Given the description of an element on the screen output the (x, y) to click on. 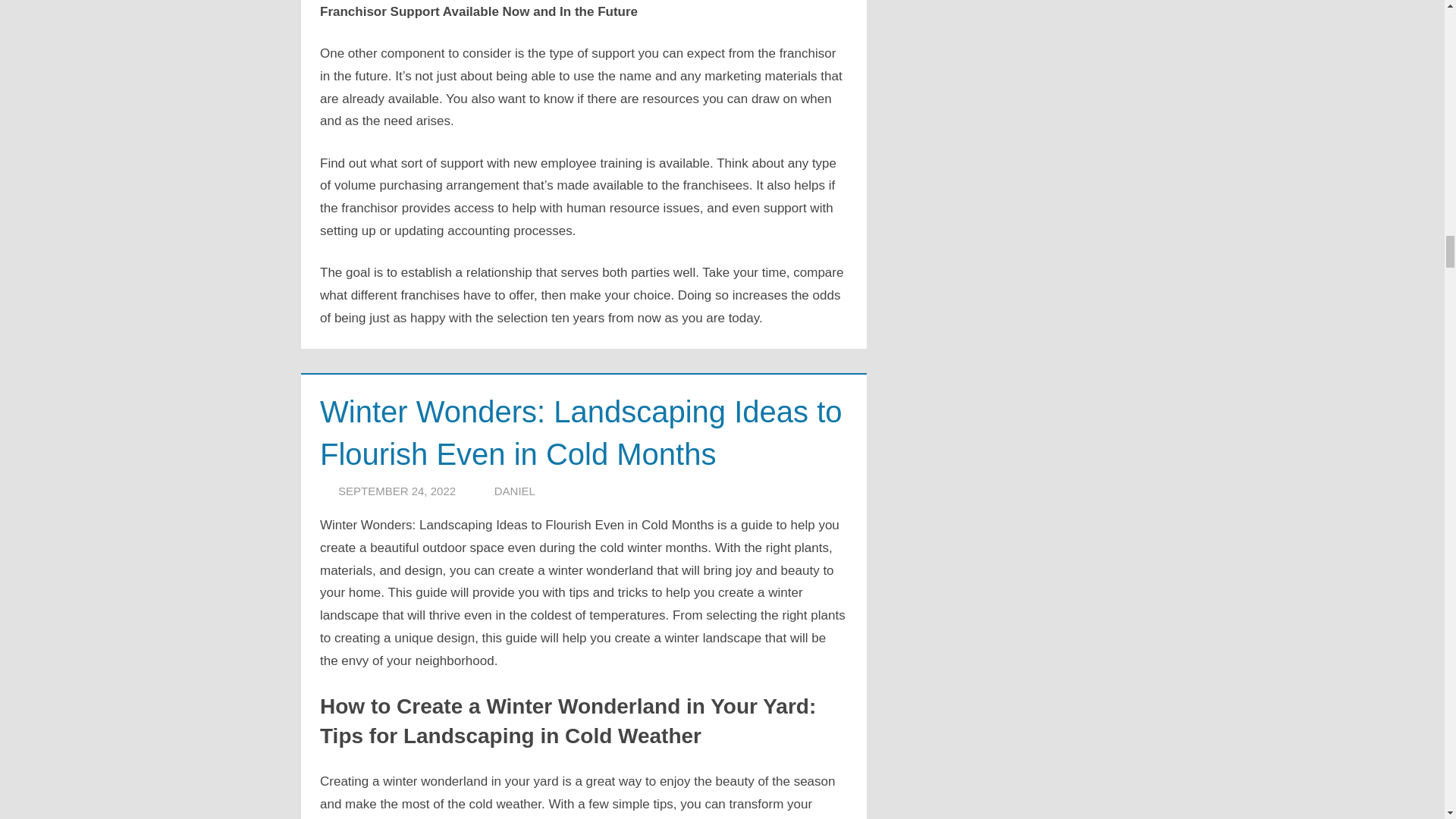
DANIEL (515, 490)
View all posts by Daniel (515, 490)
2:04 pm (396, 490)
SEPTEMBER 24, 2022 (396, 490)
